Given the description of an element on the screen output the (x, y) to click on. 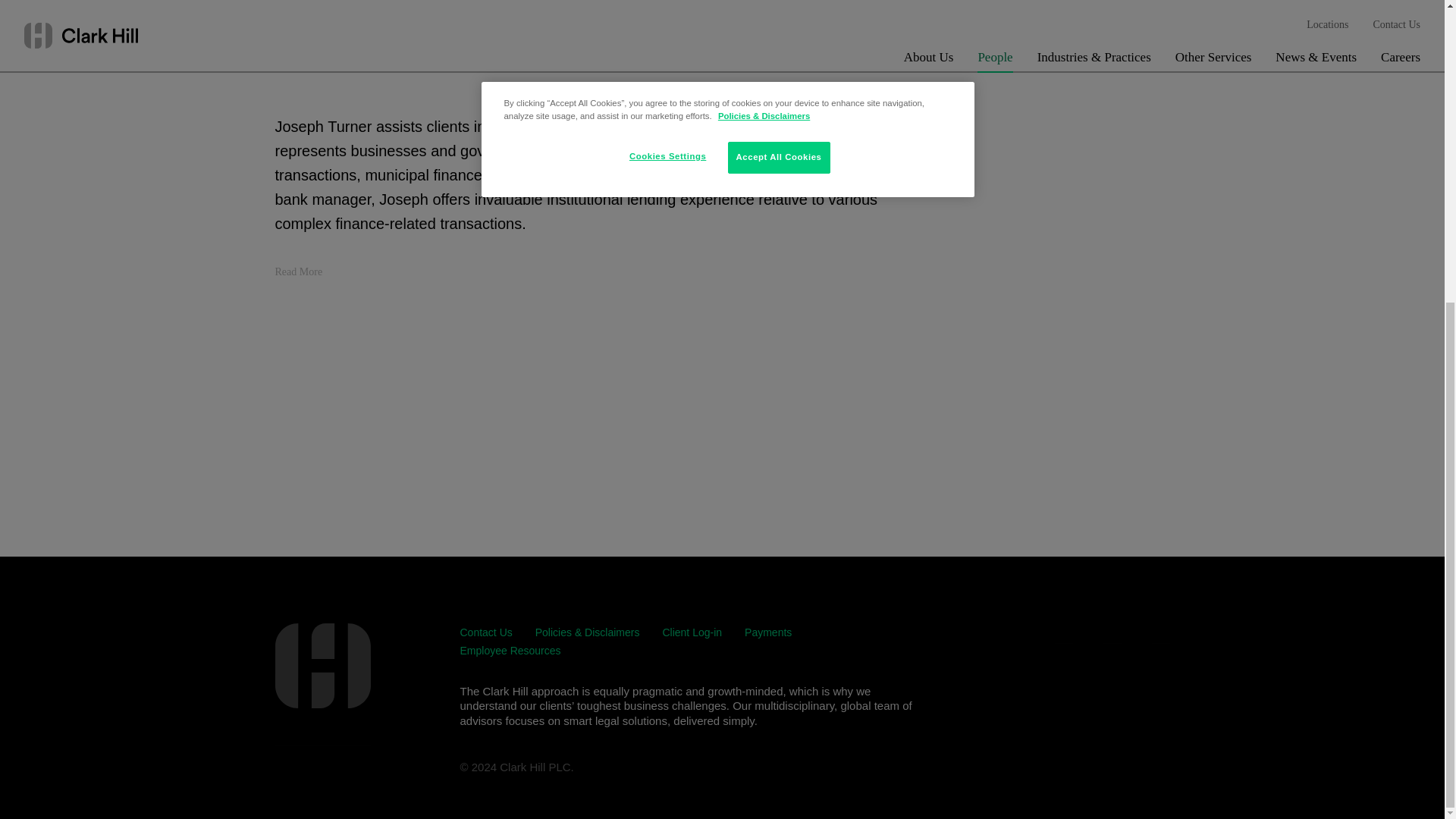
PDF (407, 35)
Read More (307, 272)
Employee Resources (510, 650)
Contact Card (320, 35)
Client Log-in (692, 632)
Contact Us (486, 632)
Payments (768, 632)
